Given the description of an element on the screen output the (x, y) to click on. 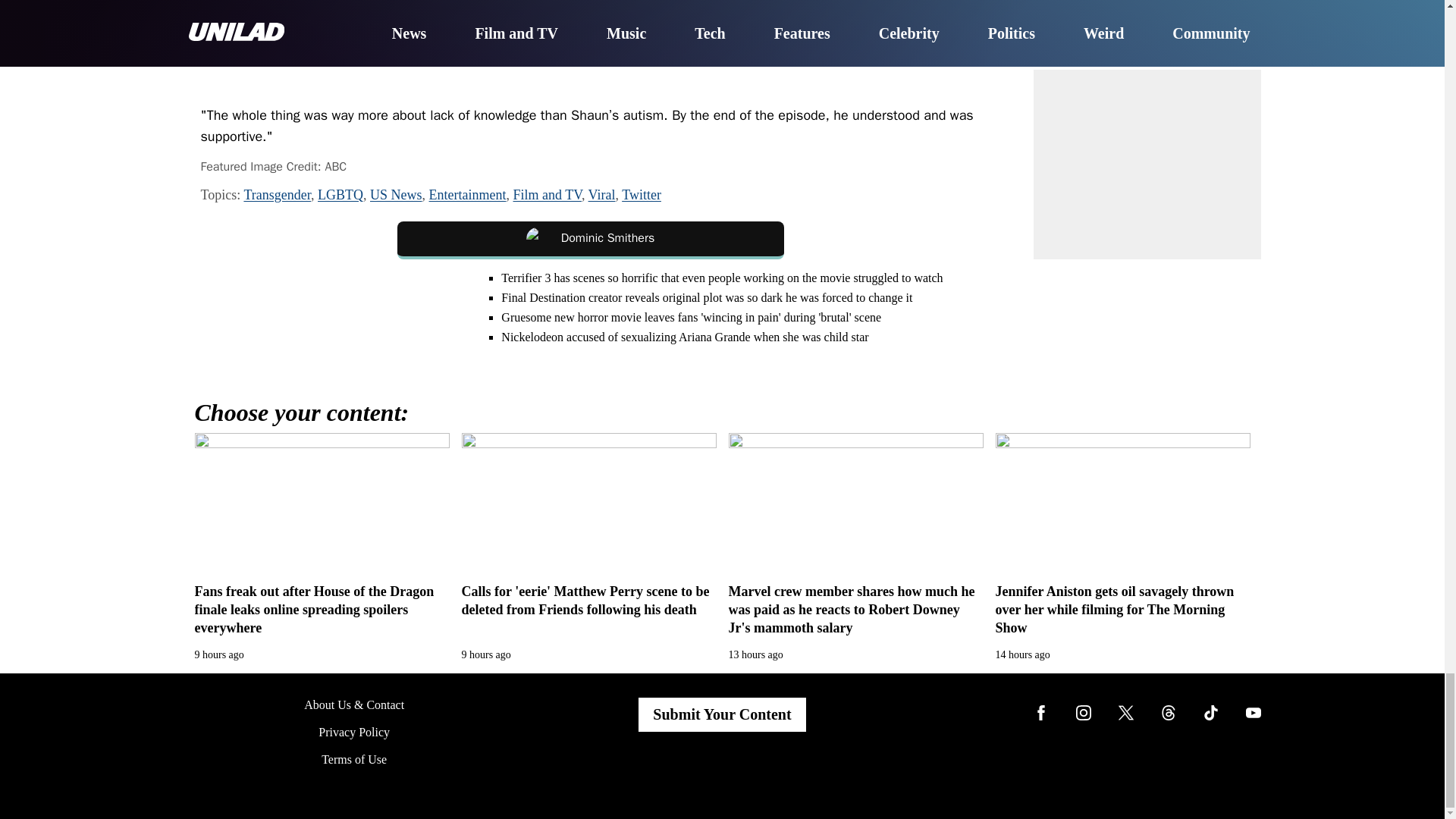
Film and TV (546, 194)
US News (395, 194)
Twitter (641, 194)
Entertainment (467, 194)
Transgender (277, 194)
LGBTQ (339, 194)
Viral (601, 194)
